Given the description of an element on the screen output the (x, y) to click on. 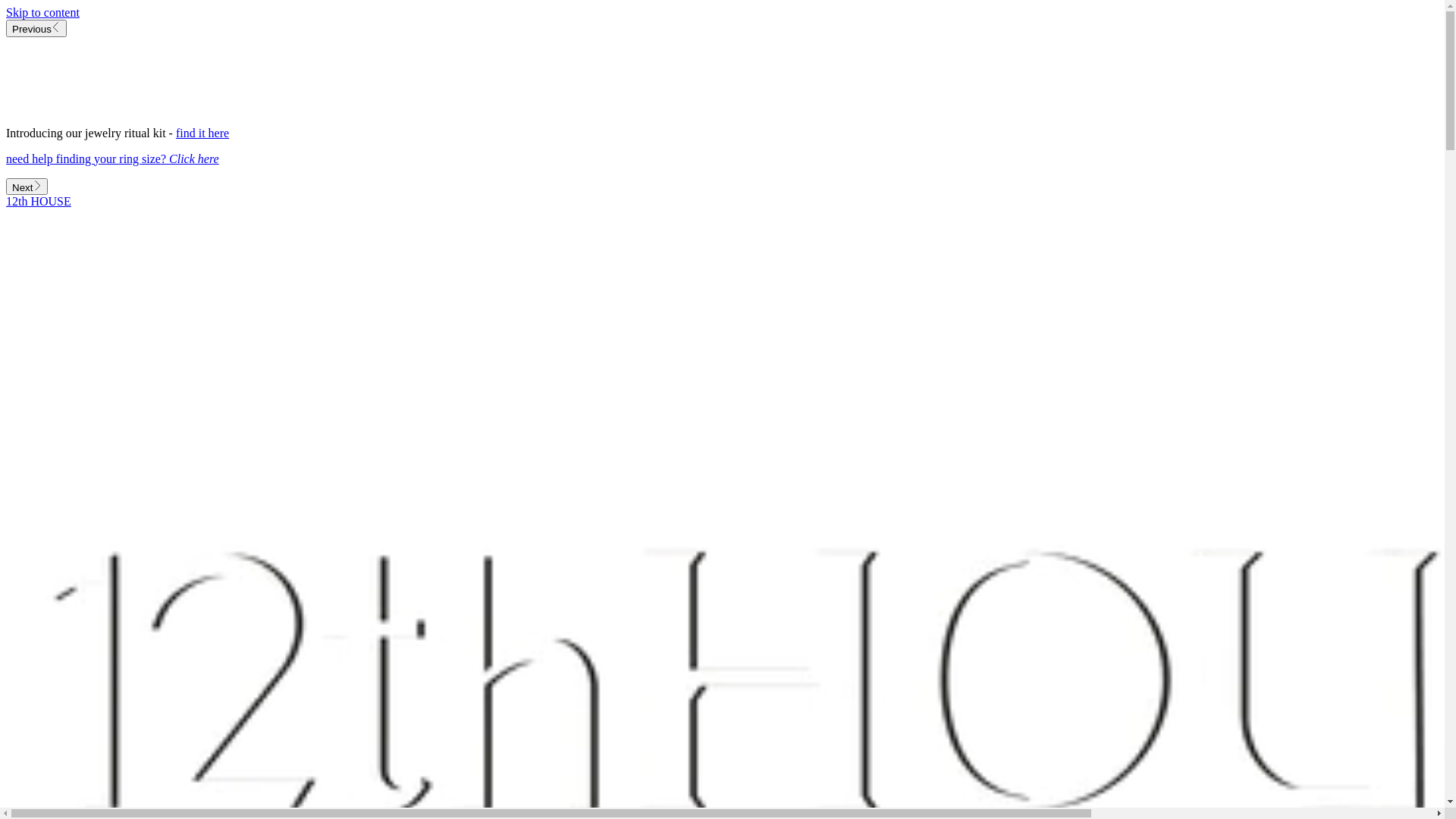
find which talisman aligns with your energy Element type: text (112, 106)
Next Element type: text (26, 185)
need help finding your ring size? Click here Element type: text (112, 157)
find it here Element type: text (202, 131)
Skip to content Element type: text (42, 12)
Previous Element type: text (36, 28)
